Given the description of an element on the screen output the (x, y) to click on. 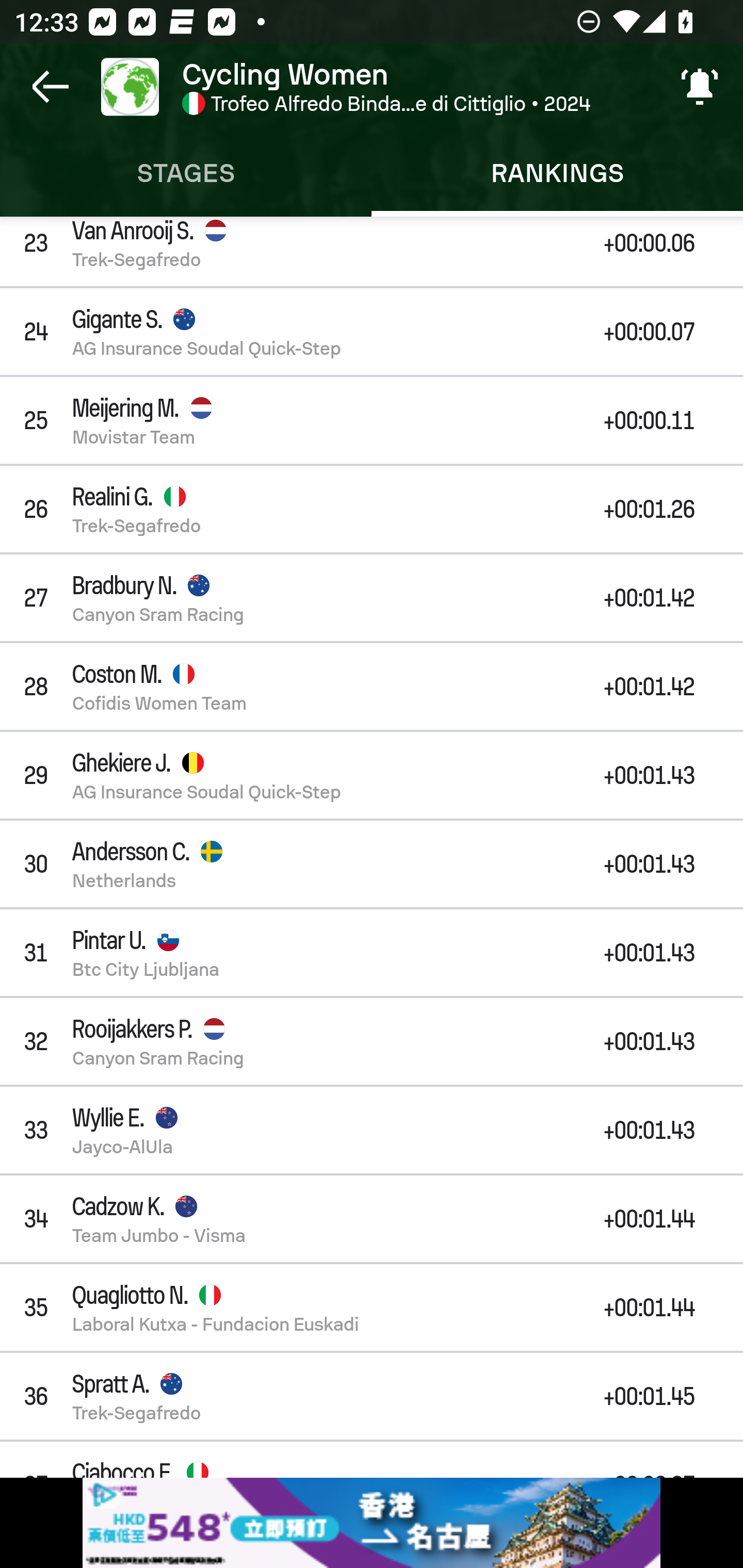
Navigate up (50, 86)
Stages STAGES (185, 173)
23 Van Anrooij S. Trek-Segafredo +00:00.06 (371, 251)
25 Meijering M. Movistar Team +00:00.11 (371, 420)
26 Realini G. Trek-Segafredo +00:01.26 (371, 508)
27 Bradbury N. Canyon Sram Racing +00:01.42 (371, 598)
28 Coston M. Cofidis Women Team +00:01.42 (371, 685)
30 Andersson C. Netherlands +00:01.43 (371, 863)
31 Pintar U. Btc City Ljubljana +00:01.43 (371, 952)
32 Rooijakkers P. Canyon Sram Racing +00:01.43 (371, 1041)
33 Wyllie E. Jayco-AlUla +00:01.43 (371, 1129)
34 Cadzow K. Team Jumbo - Visma +00:01.44 (371, 1219)
36 Spratt A. Trek-Segafredo +00:01.45 (371, 1396)
ysfecx5i_320x50 (371, 1522)
